Given the description of an element on the screen output the (x, y) to click on. 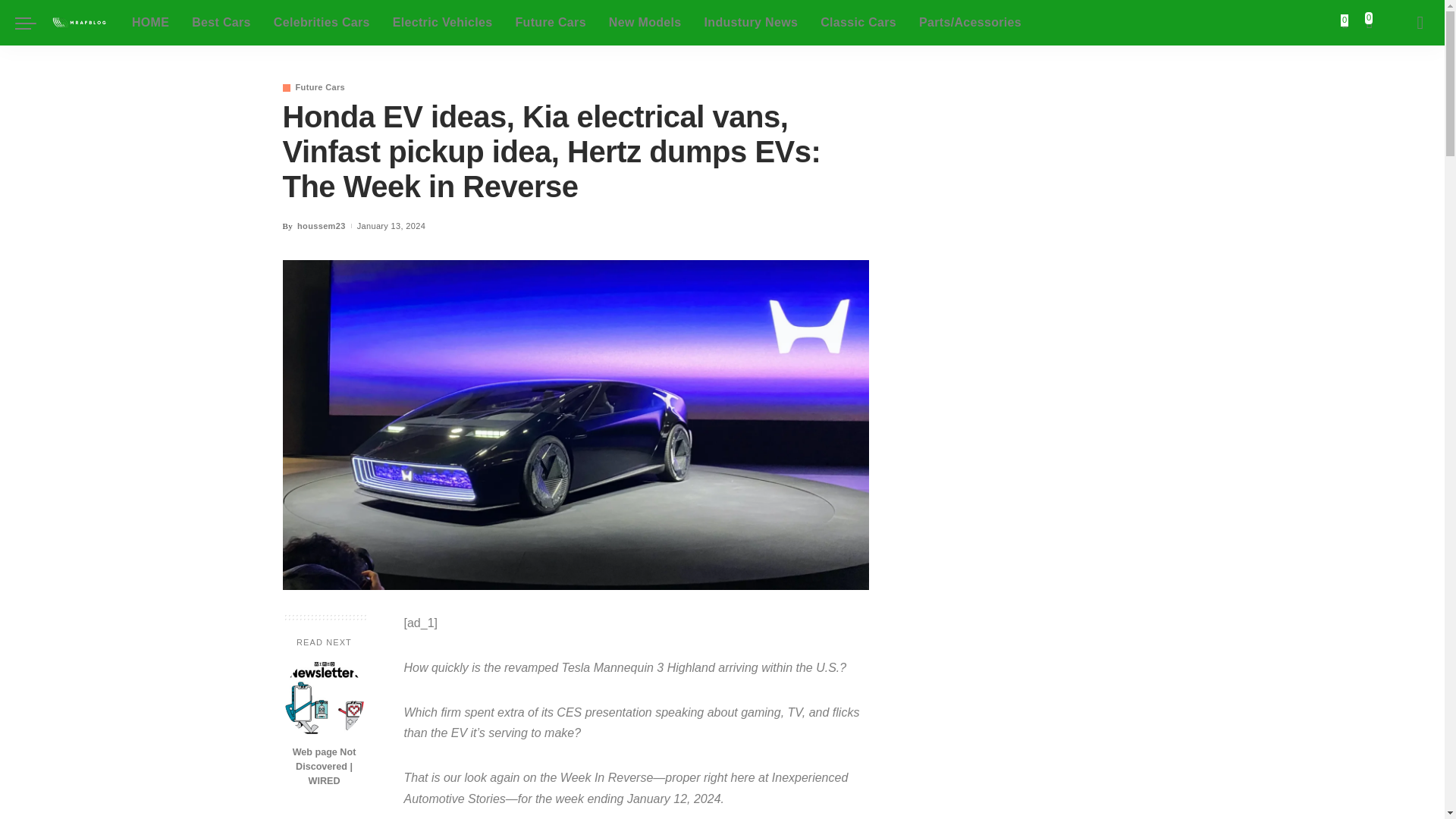
Classic Cars (858, 22)
Electric Vehicles (442, 22)
Mraf Blog (79, 22)
Future Cars (549, 22)
New Models (644, 22)
Industury News (751, 22)
Celebrities Cars (321, 22)
HOME (150, 22)
Best Cars (221, 22)
